Given the description of an element on the screen output the (x, y) to click on. 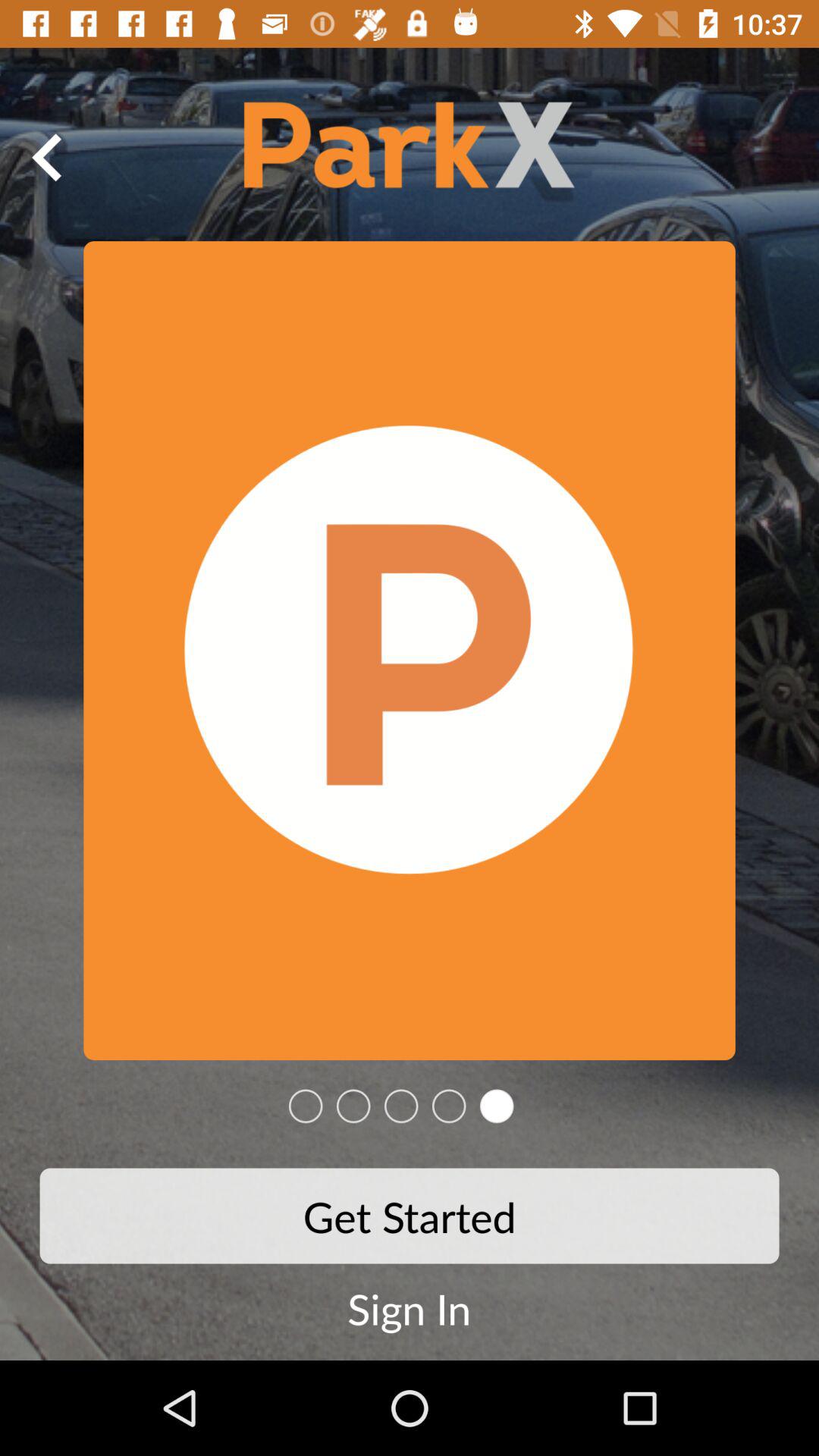
go to previous (47, 157)
